Given the description of an element on the screen output the (x, y) to click on. 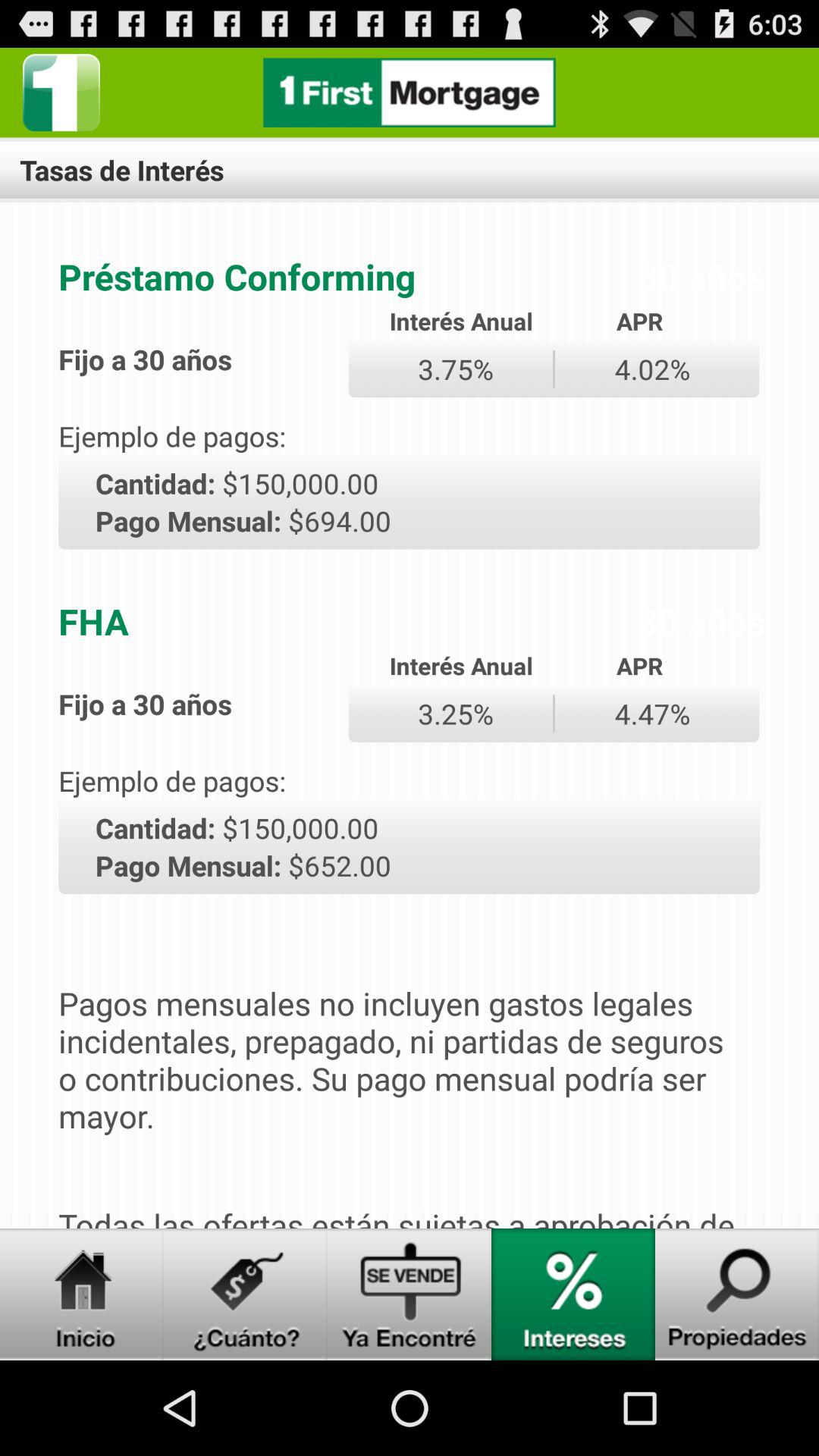
interest rate button (573, 1294)
